Given the description of an element on the screen output the (x, y) to click on. 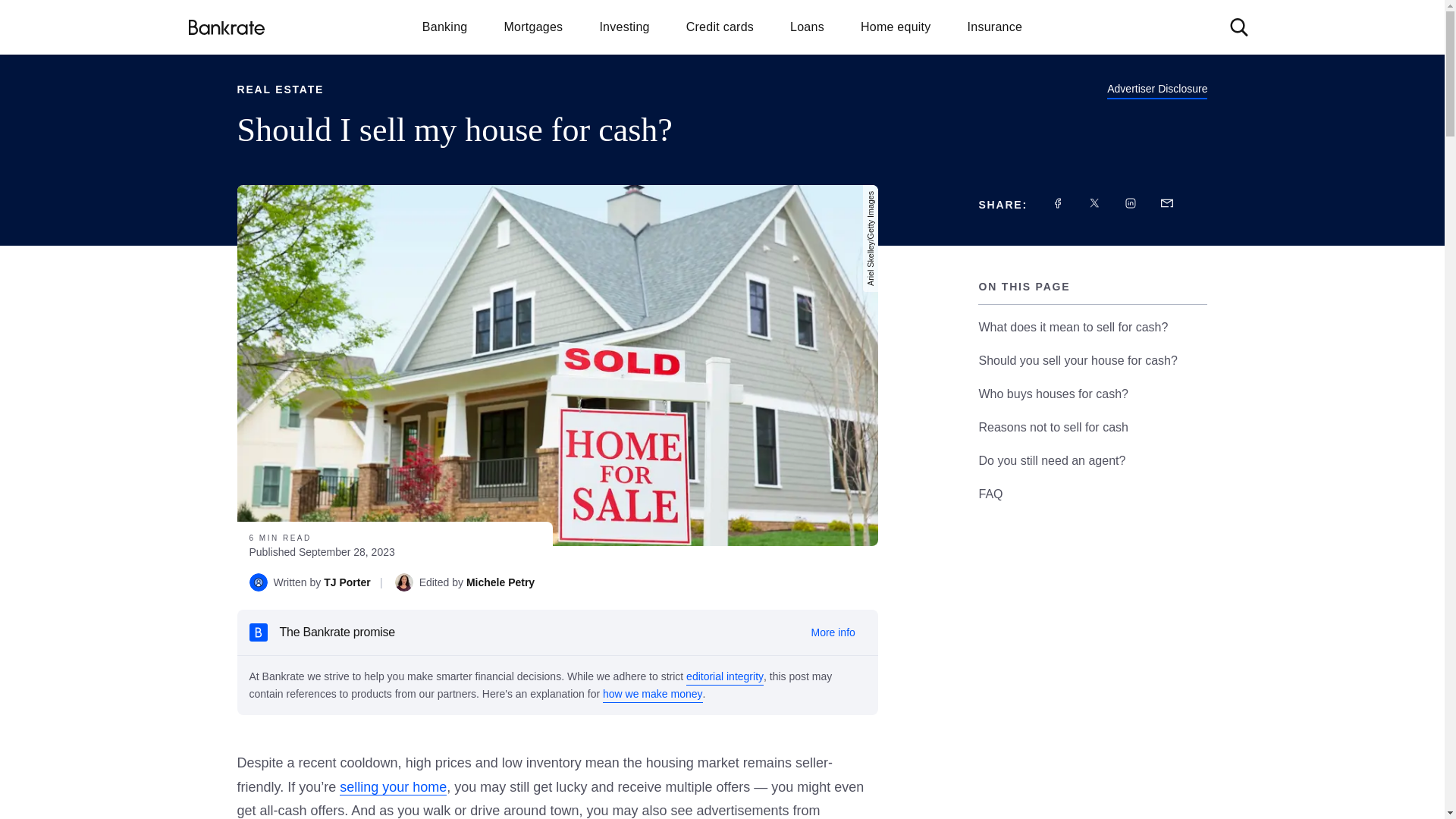
Linkedin (1130, 203)
Facebook (1057, 203)
Twitter (1093, 203)
Banking (445, 25)
Email (1166, 203)
